Given the description of an element on the screen output the (x, y) to click on. 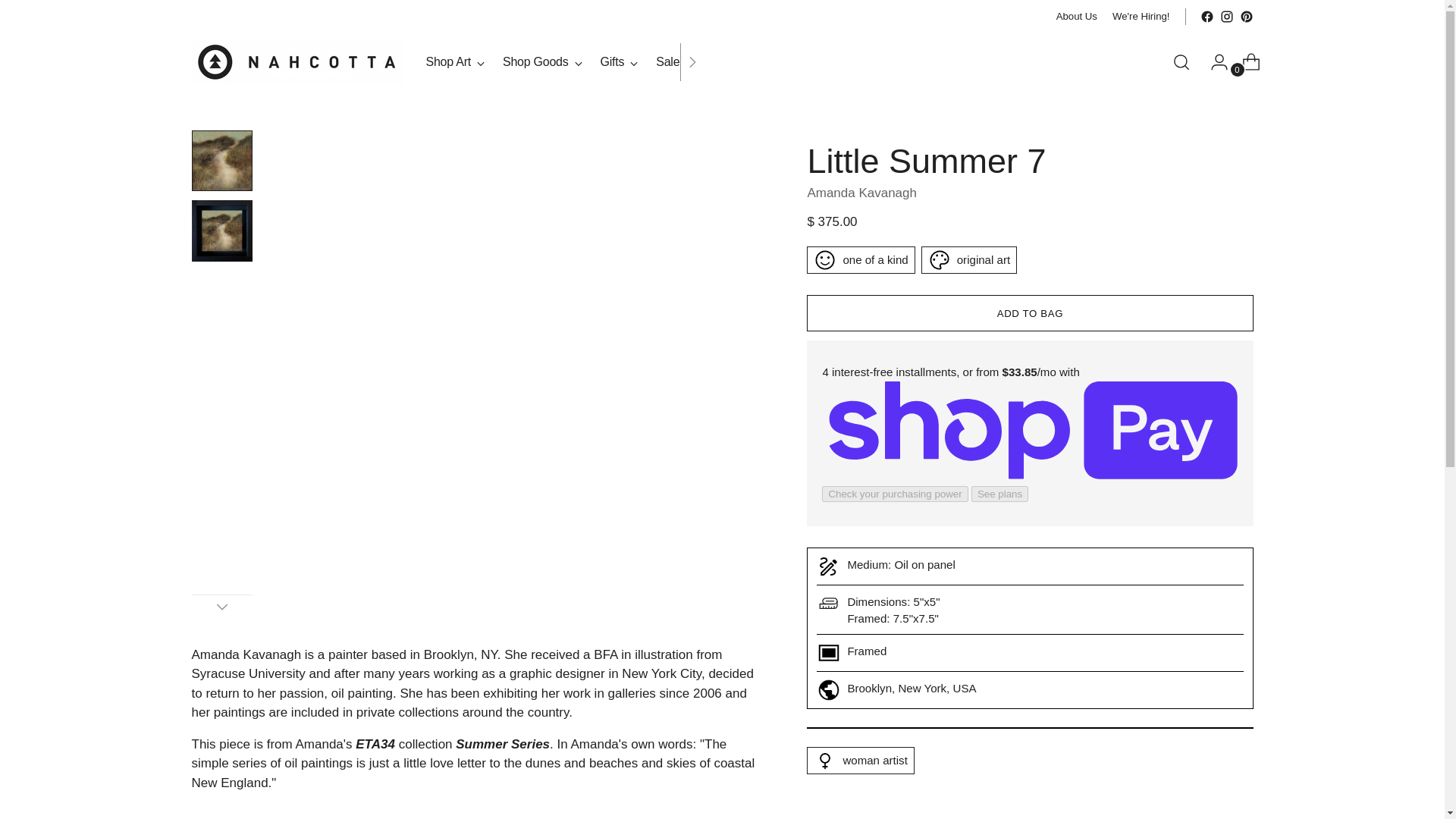
Nahcotta on Instagram (1226, 16)
Nahcotta on Facebook (1205, 16)
Nahcotta on Pinterest (1245, 16)
Down (564, 61)
About Us (220, 606)
We're Hiring! (1077, 16)
Gifts (1141, 16)
Amanda Kavanagh (619, 61)
Shop Goods (861, 192)
